Given the description of an element on the screen output the (x, y) to click on. 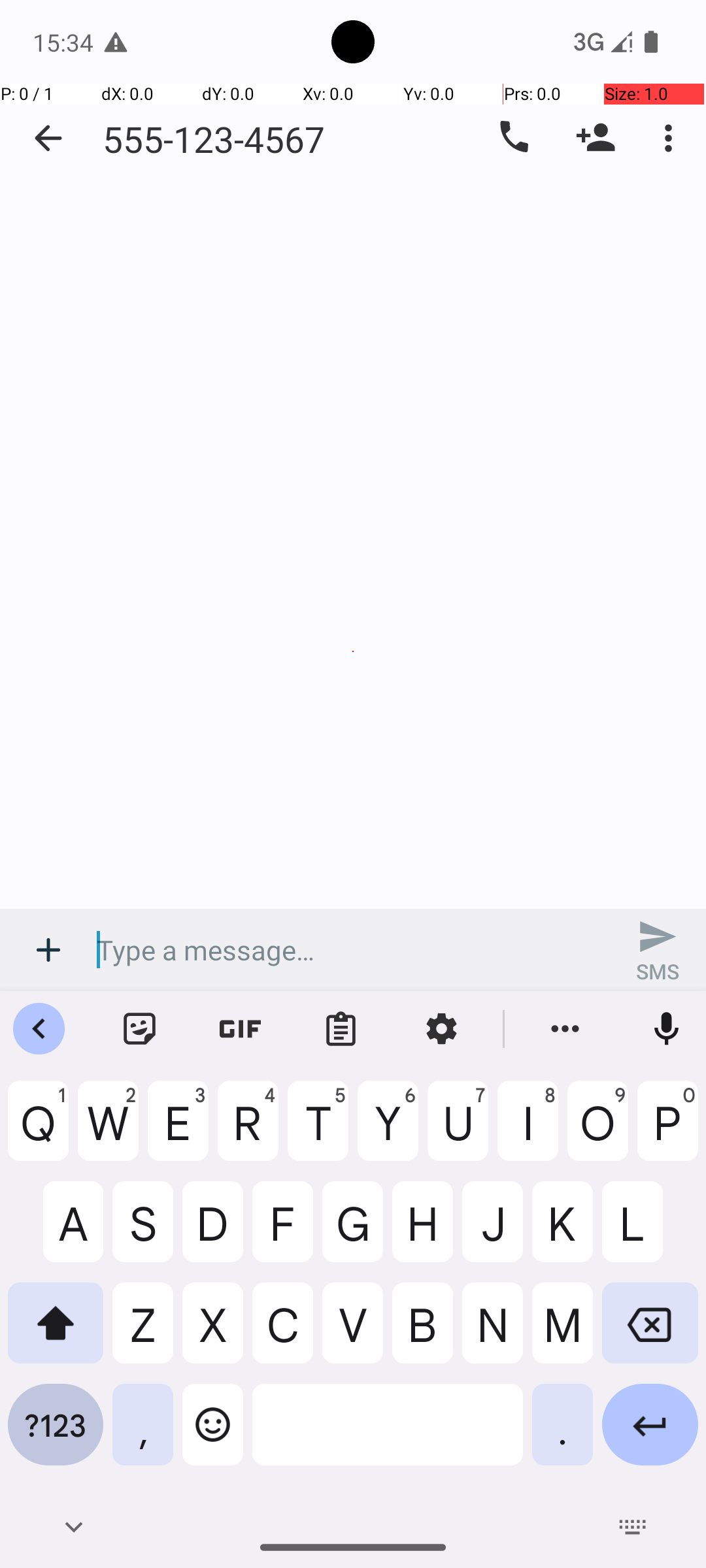
555-123-4567 Element type: android.widget.TextView (213, 138)
Dial number Element type: android.widget.Button (512, 137)
Add Person Element type: android.widget.Button (595, 137)
Attachment Element type: android.widget.ImageView (48, 949)
Type a message… Element type: android.widget.EditText (352, 949)
SMS Element type: android.widget.Button (657, 949)
